Given the description of an element on the screen output the (x, y) to click on. 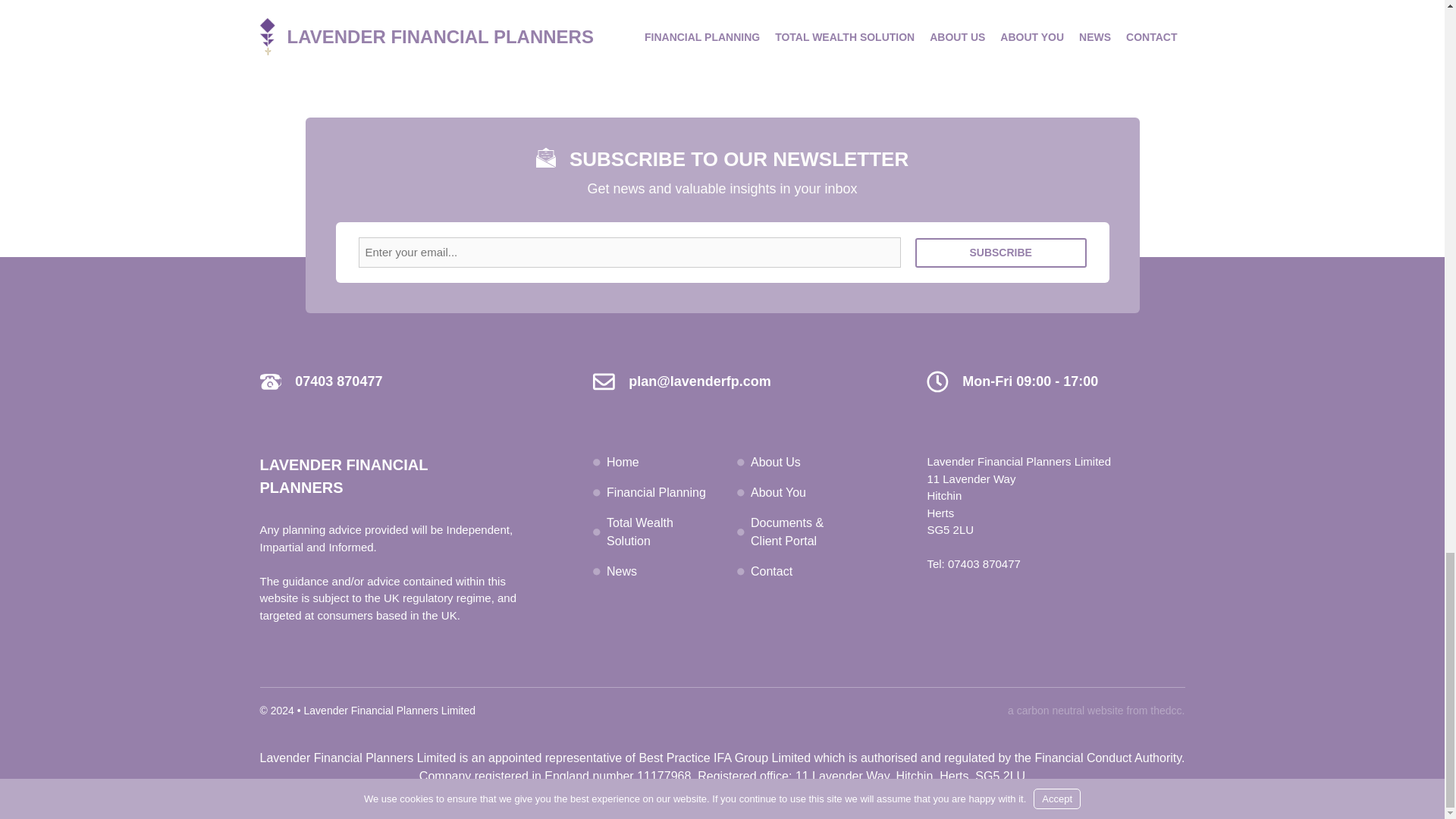
Contact (771, 571)
READ MORE TESTIMONIALS (722, 38)
07403 870477 (983, 563)
About You (778, 492)
a carbon neutral website from thedcc. (1096, 710)
Financial Planning (656, 492)
News (622, 571)
1 (711, 4)
About Us (775, 461)
Subscribe (1000, 252)
Home (623, 461)
2 (733, 4)
07403 870477 (338, 381)
Total Wealth Solution (639, 531)
Subscribe (1000, 252)
